Given the description of an element on the screen output the (x, y) to click on. 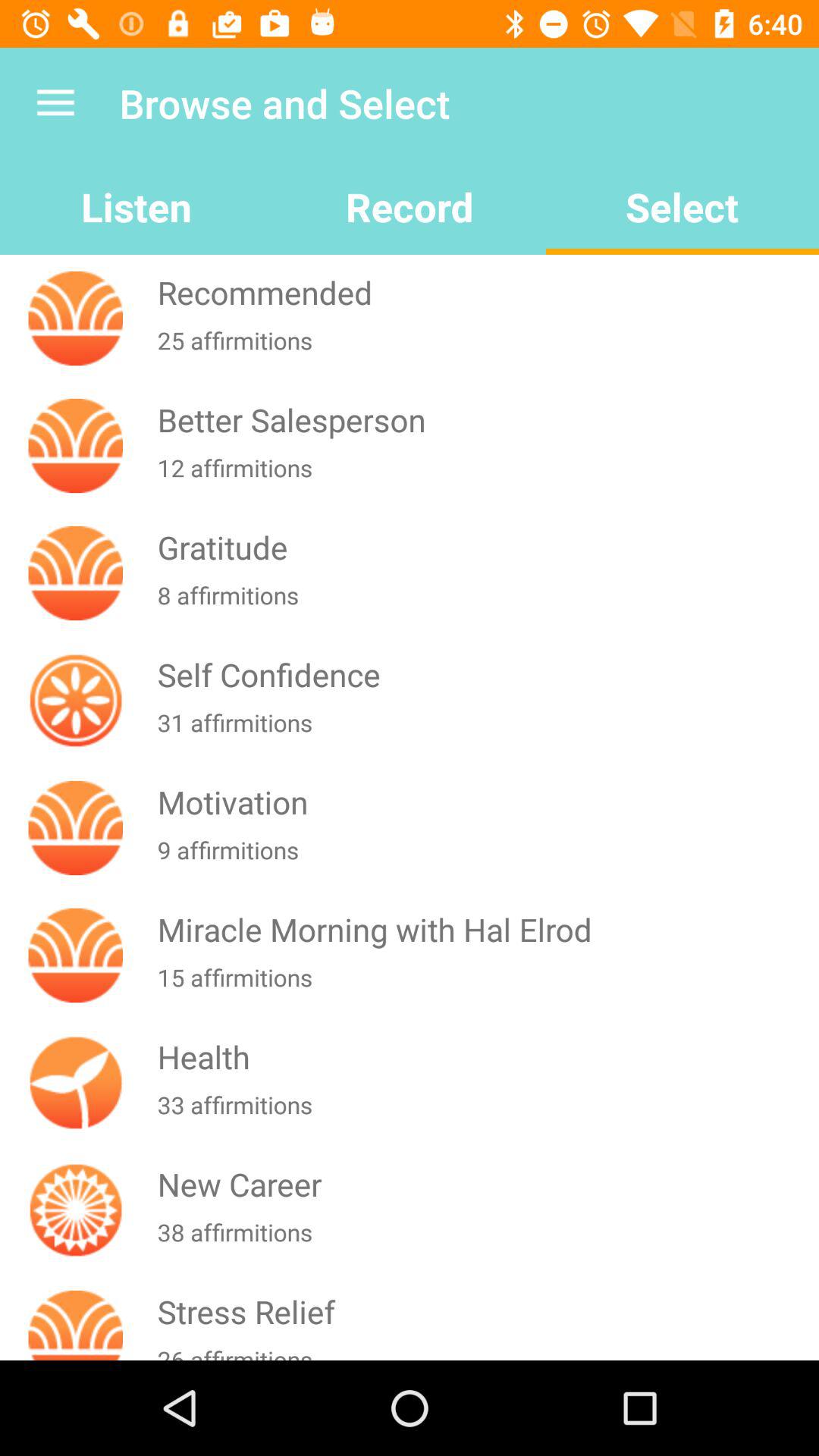
open the item below 33 affirmitions item (484, 1183)
